Given the description of an element on the screen output the (x, y) to click on. 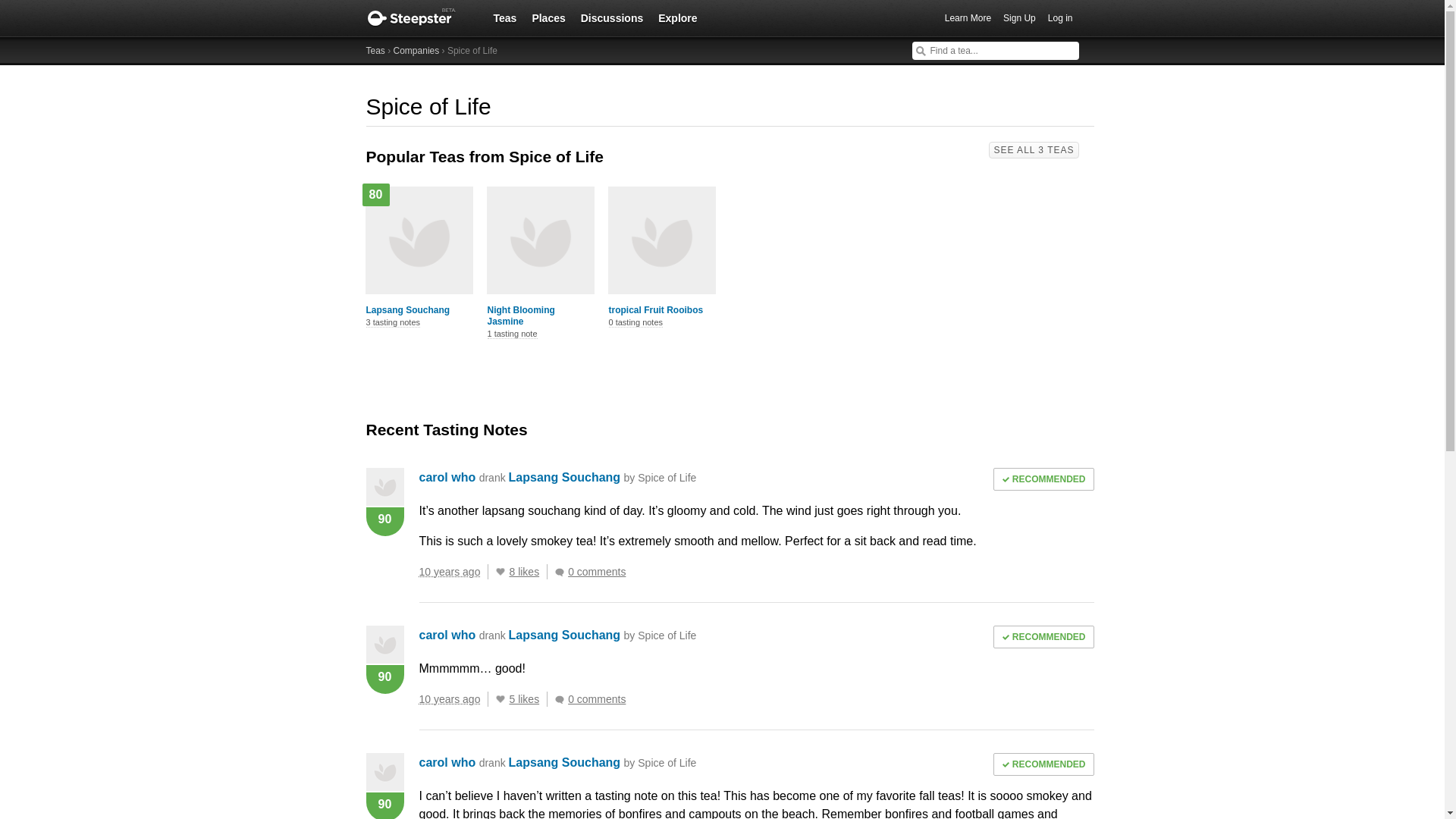
Discussions (612, 17)
5 likes (527, 698)
Teas (504, 17)
I Like This (500, 571)
Sign Up (1019, 18)
SEE ALL 3 TEAS (1033, 149)
10 years ago (453, 571)
Companies (416, 50)
Like This (500, 698)
2014-10-30T22:40:58Z (449, 698)
Lapsang Souchang by Spice of Life (602, 477)
Steepster (418, 18)
8 likes (527, 571)
3 tasting notes (392, 322)
Teas (374, 50)
